Given the description of an element on the screen output the (x, y) to click on. 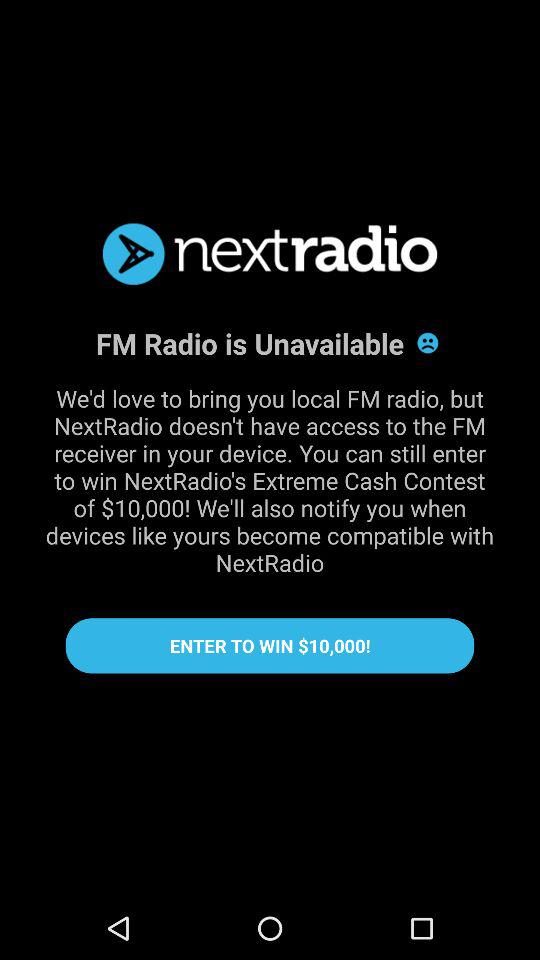
press the item at the top (269, 253)
